Given the description of an element on the screen output the (x, y) to click on. 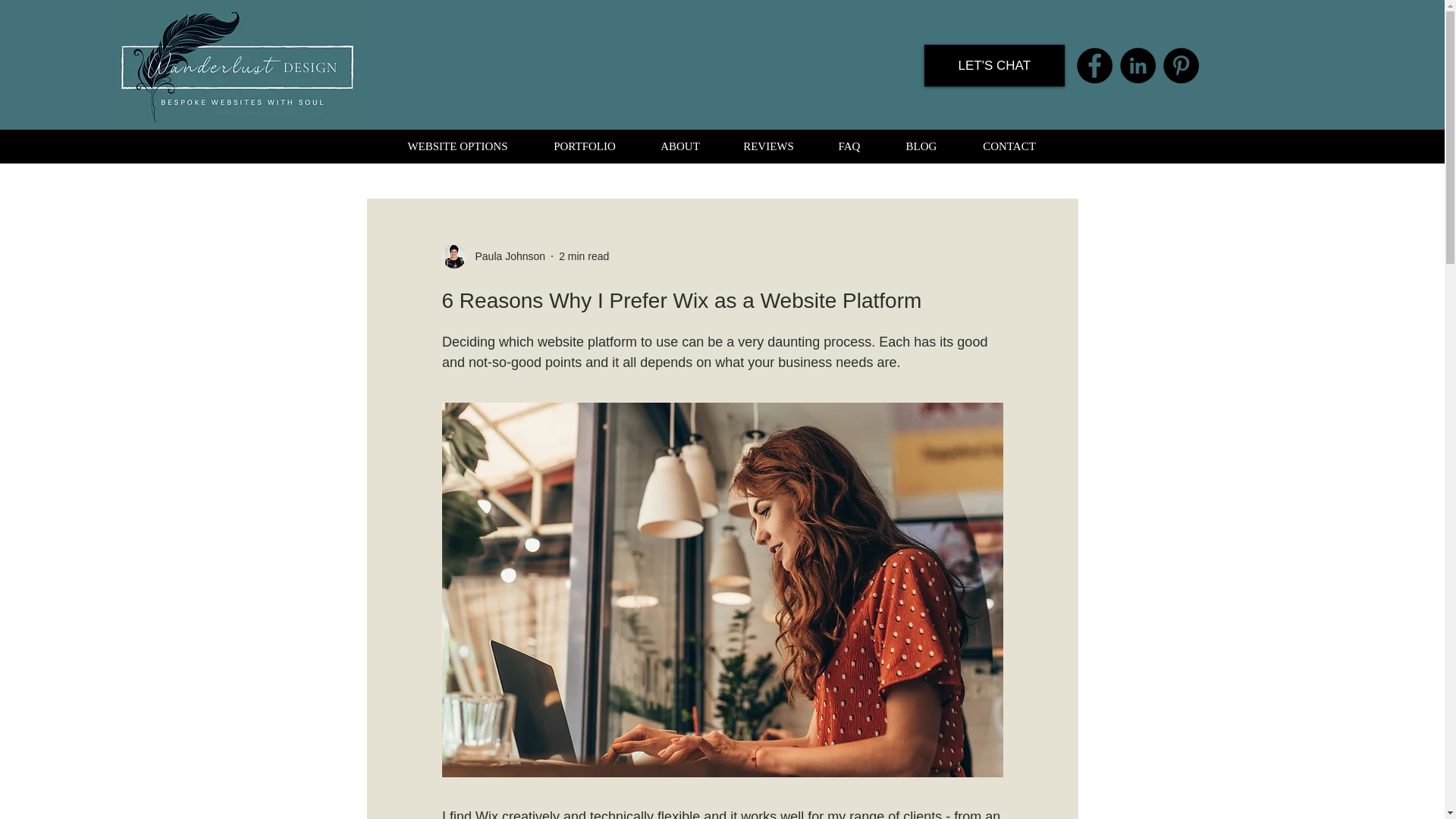
CONTACT (1009, 146)
LET'S CHAT (994, 65)
ABOUT (679, 146)
Paula Johnson (504, 256)
FAQ (849, 146)
PORTFOLIO (585, 146)
REVIEWS (768, 146)
BLOG (920, 146)
2 min read (583, 256)
